Given the description of an element on the screen output the (x, y) to click on. 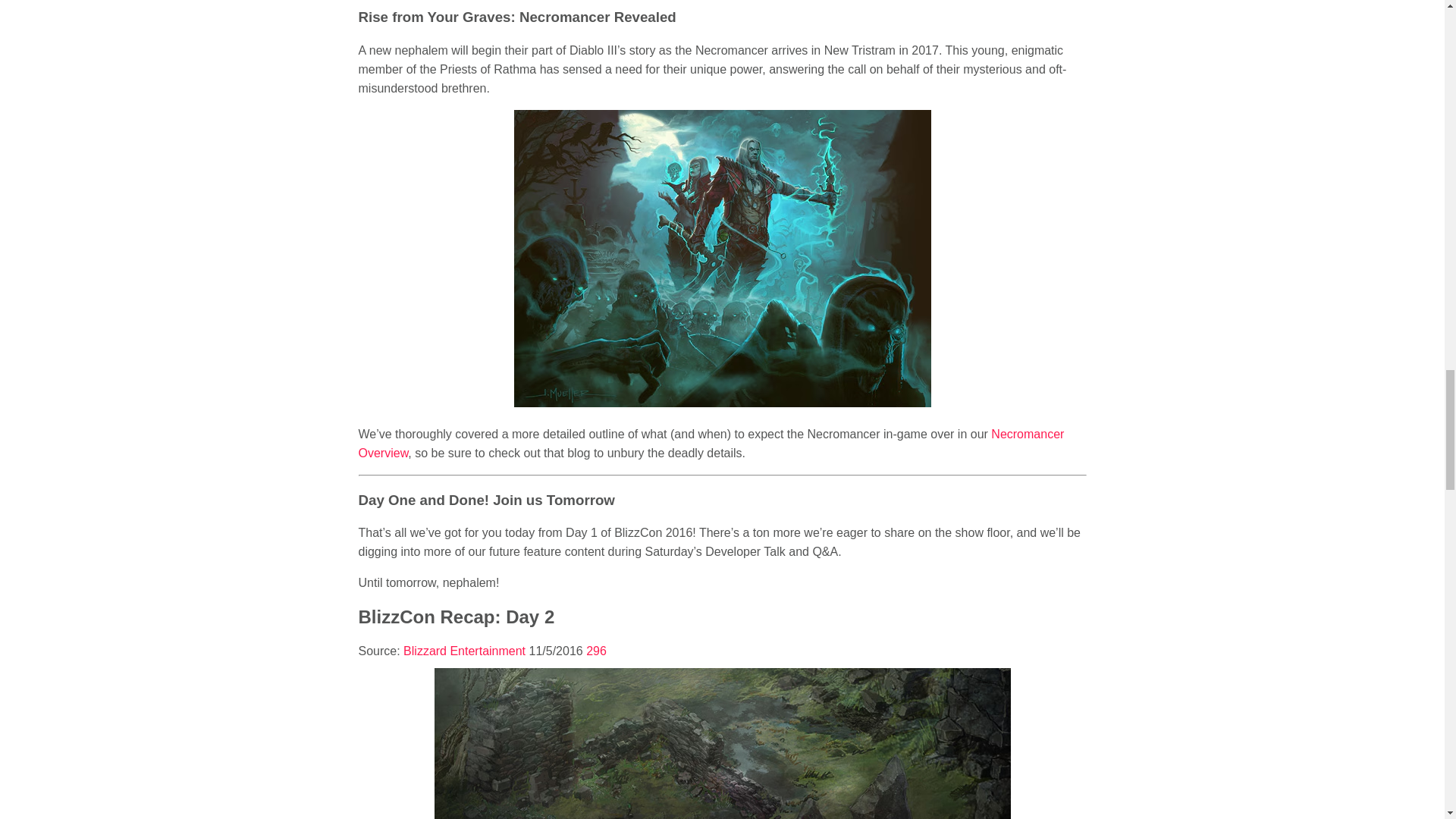
Nov 5, 2016 6:05 PM PDT (557, 650)
Blizzard Entertainment (465, 650)
296 (596, 650)
Necromancer Overview (711, 443)
